Given the description of an element on the screen output the (x, y) to click on. 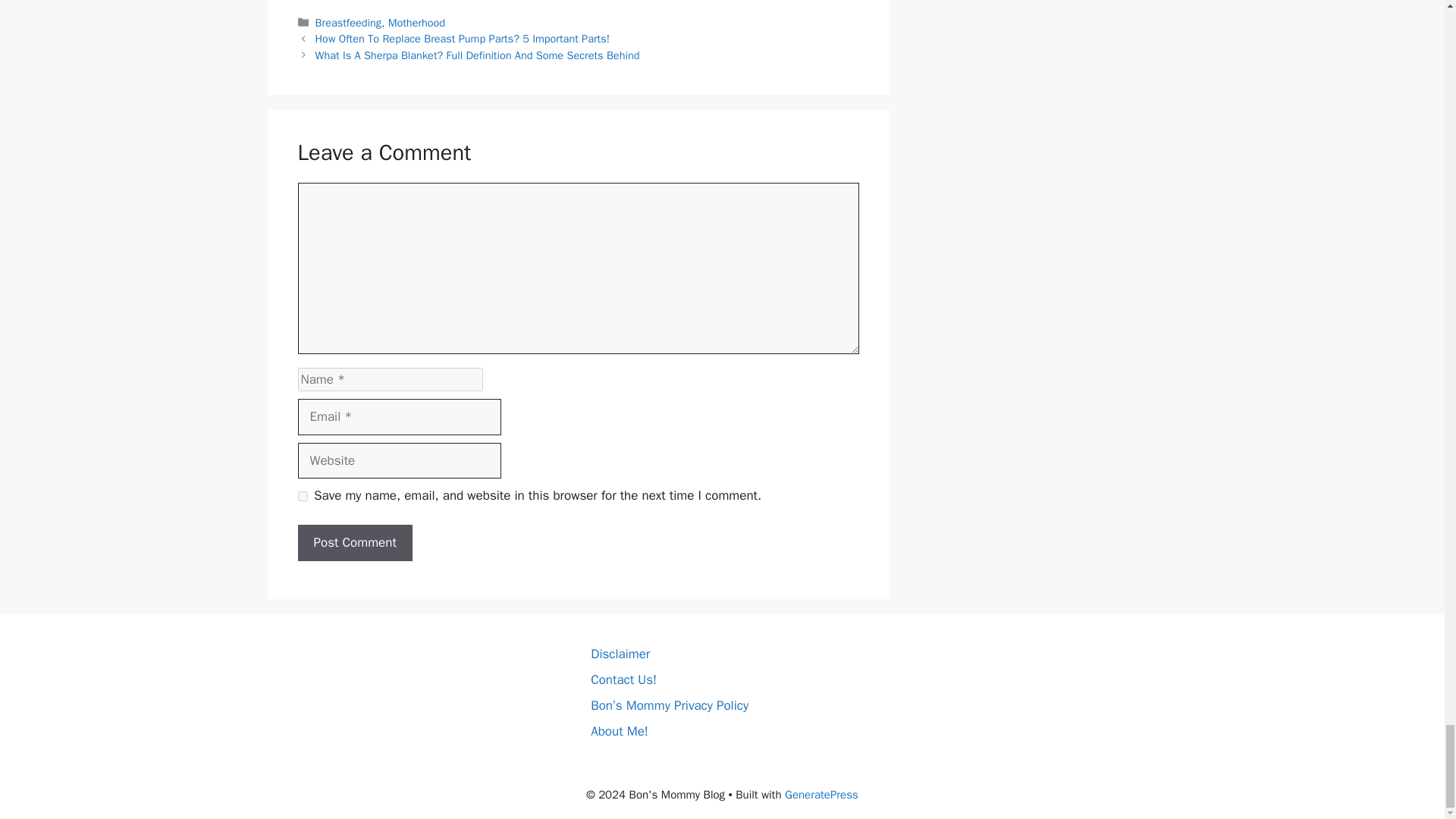
yes (302, 496)
How Often To Replace Breast Pump Parts? 5 Important Parts! (462, 38)
Contact Us! (623, 679)
Post Comment (354, 542)
Motherhood (416, 22)
Breastfeeding (348, 22)
About Me! (619, 731)
Disclaimer (620, 653)
Post Comment (354, 542)
